Given the description of an element on the screen output the (x, y) to click on. 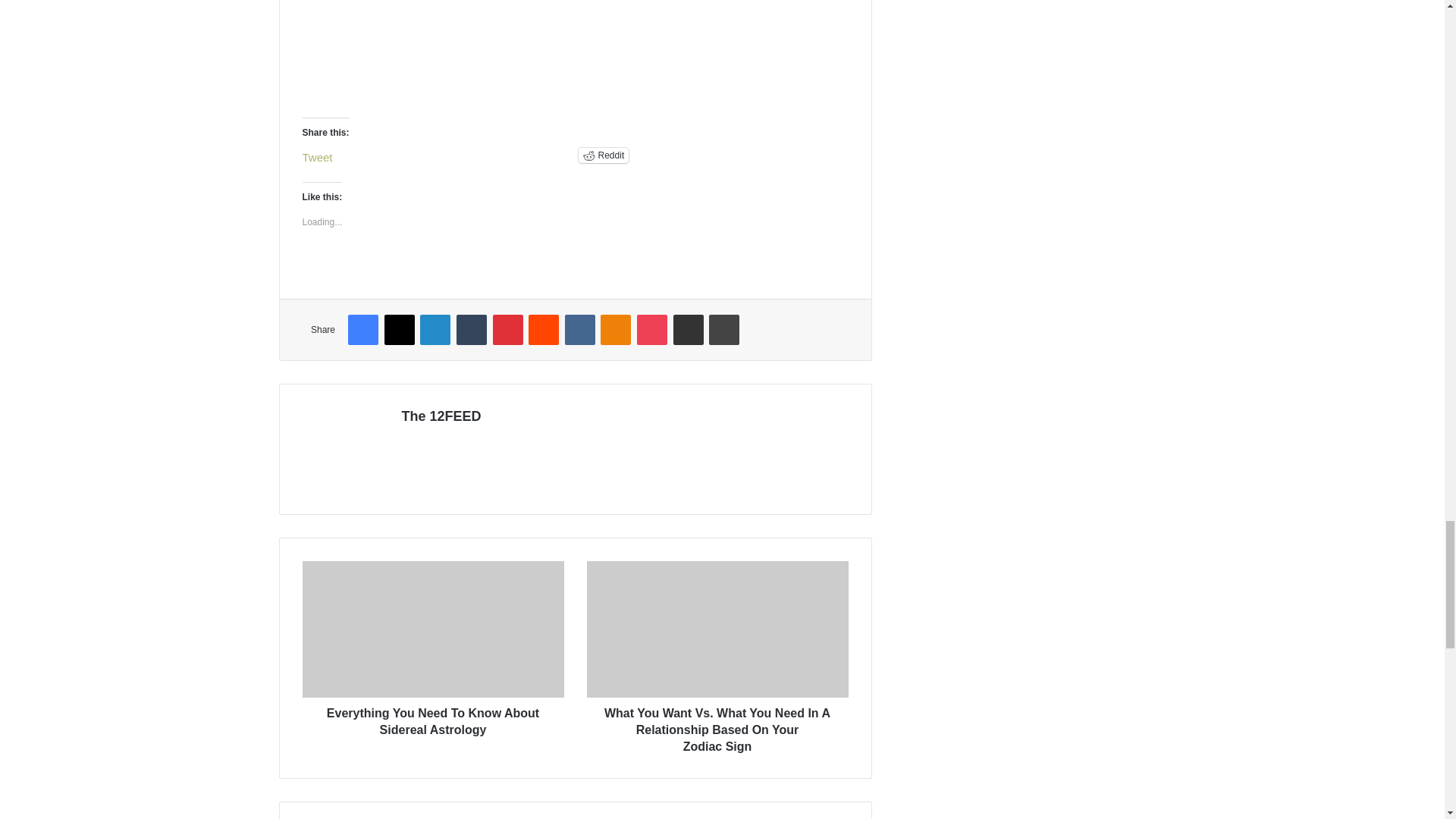
Reddit (603, 155)
Click to share on Reddit (603, 155)
Tweet (316, 154)
